Given the description of an element on the screen output the (x, y) to click on. 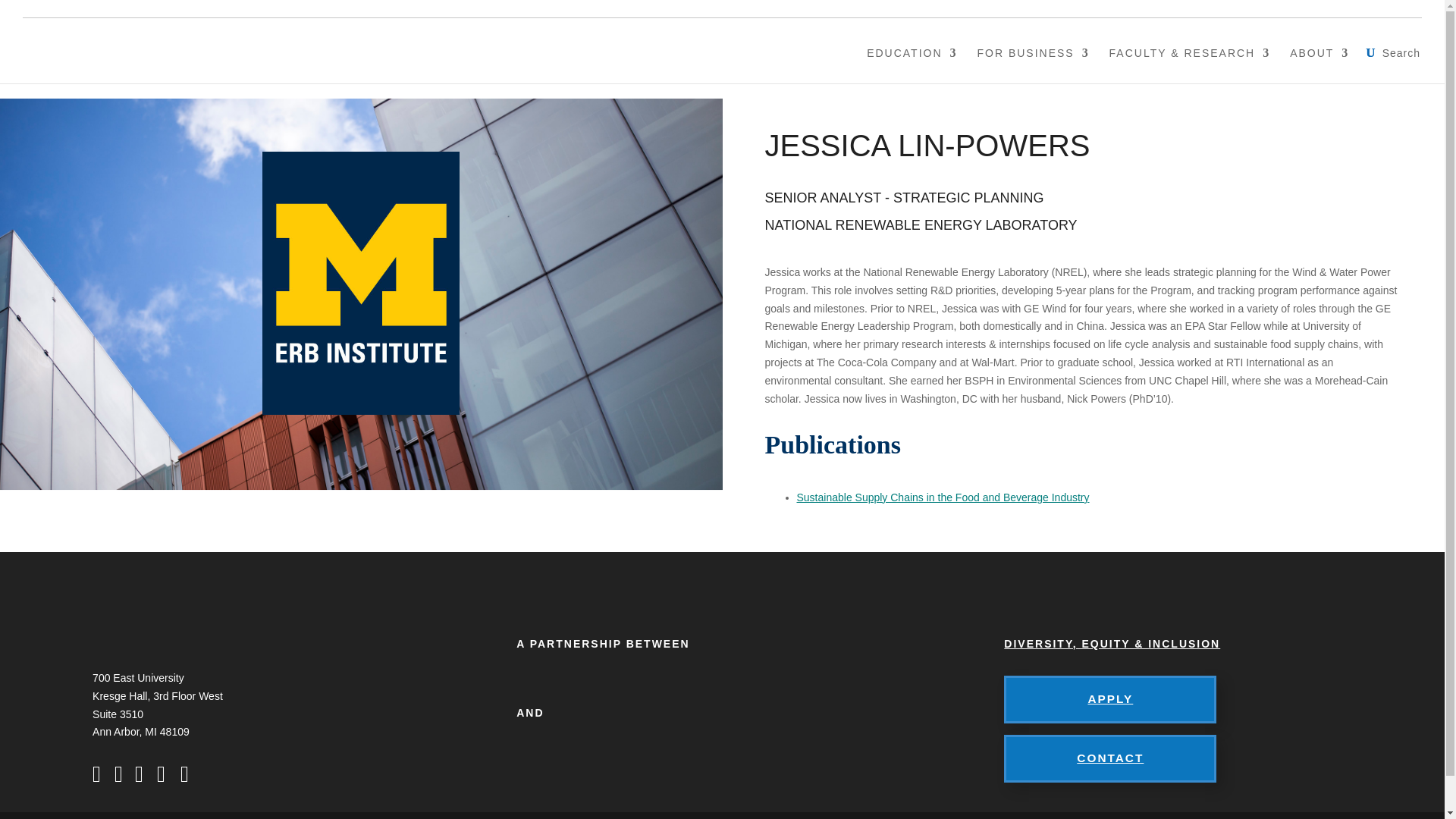
Giving (1306, 8)
Links for (1387, 8)
EDUCATION (911, 65)
ABOUT (1319, 65)
Calendar (1234, 8)
FOR BUSINESS (1032, 65)
